Given the description of an element on the screen output the (x, y) to click on. 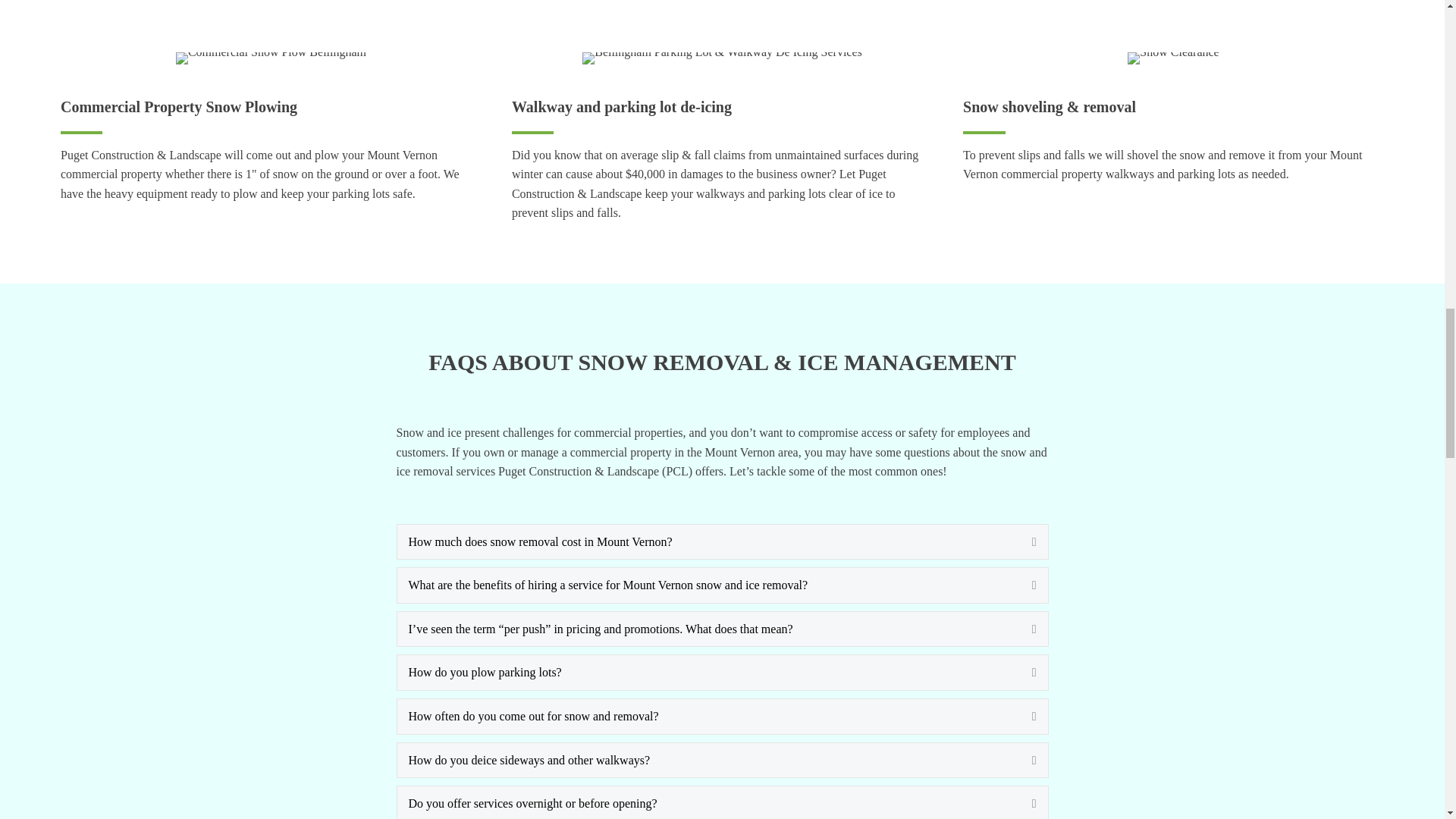
Expand (1022, 716)
Commercial Snow Plow Bellingham (271, 58)
Expand (1022, 629)
Expand (1022, 585)
How often do you come out for snow and removal? (708, 716)
Expand (1022, 672)
Expand (1022, 760)
Expand (1022, 803)
How do you plow parking lots? (708, 672)
How much does snow removal cost in Mount Vernon? (708, 542)
Do you offer services overnight or before opening? (708, 803)
Expand (1022, 542)
Snow Clearance (1172, 58)
How do you deice sideways and other walkways? (708, 760)
